Given the description of an element on the screen output the (x, y) to click on. 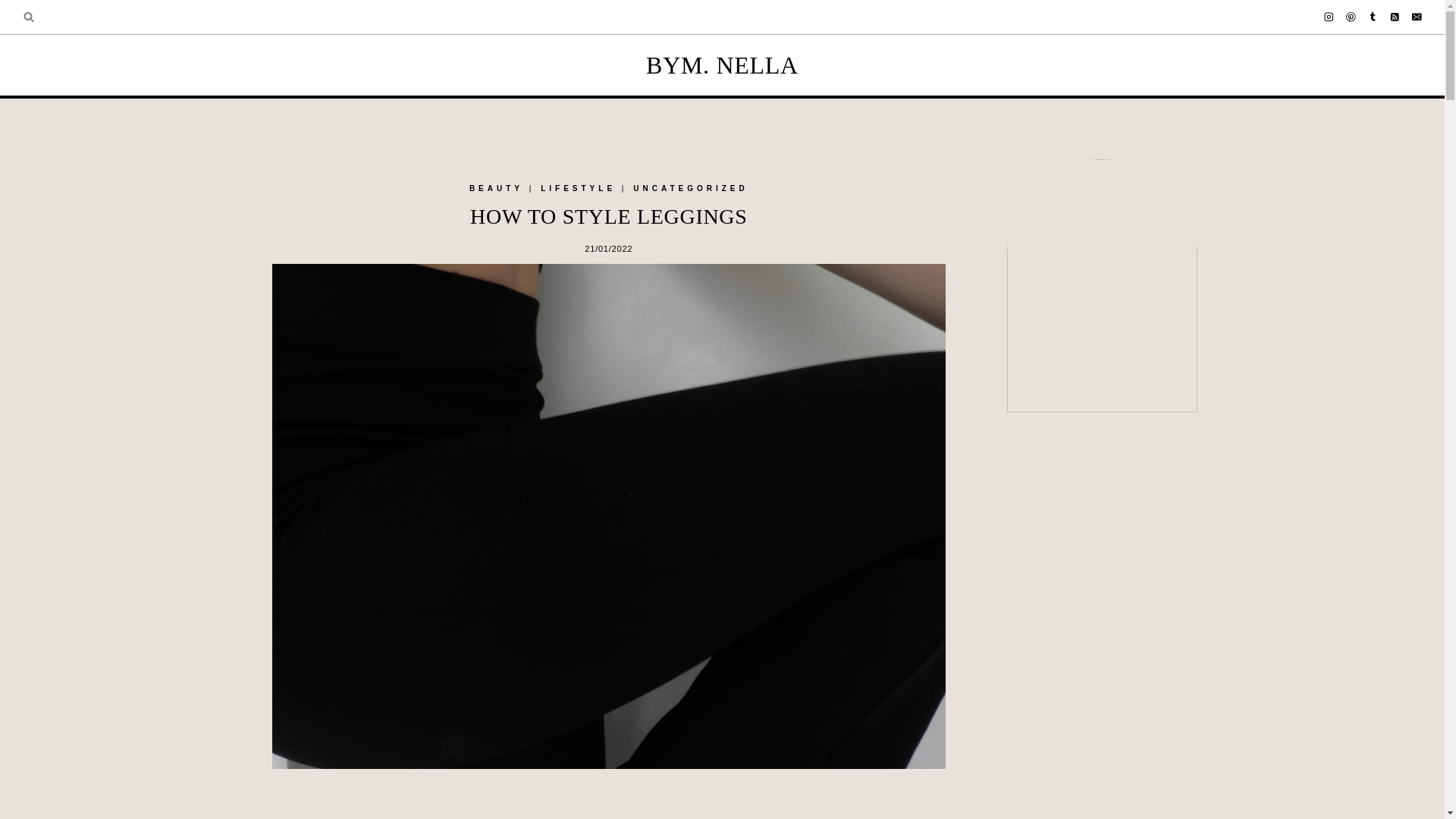
LIFESTYLE (577, 188)
BYM. NELLA (721, 64)
UNCATEGORIZED (690, 188)
BEAUTY (495, 188)
